Given the description of an element on the screen output the (x, y) to click on. 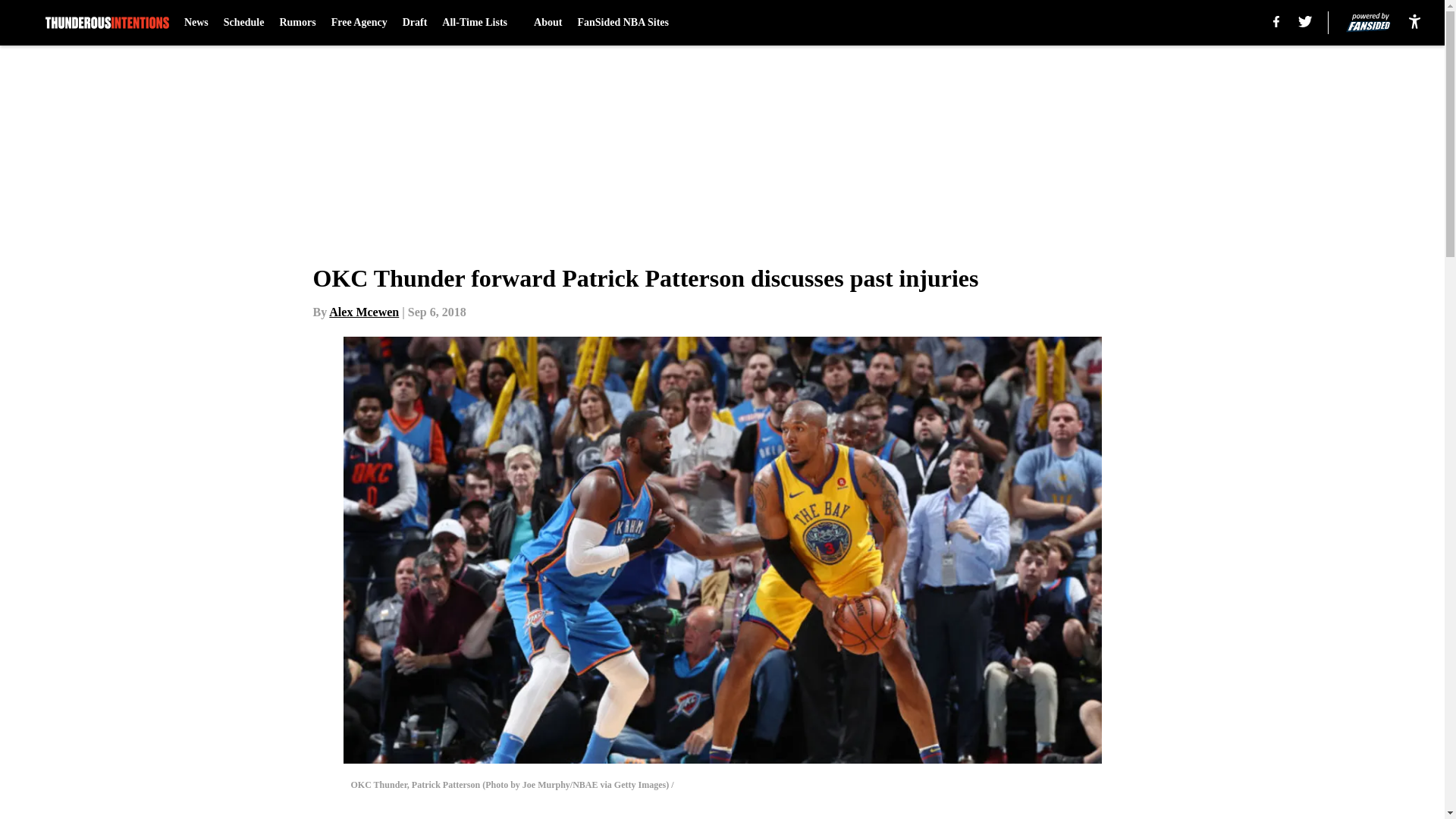
About (548, 22)
FanSided NBA Sites (622, 22)
Rumors (297, 22)
Free Agency (359, 22)
Draft (415, 22)
Schedule (244, 22)
All-Time Lists (480, 22)
News (196, 22)
Alex Mcewen (363, 311)
